Given the description of an element on the screen output the (x, y) to click on. 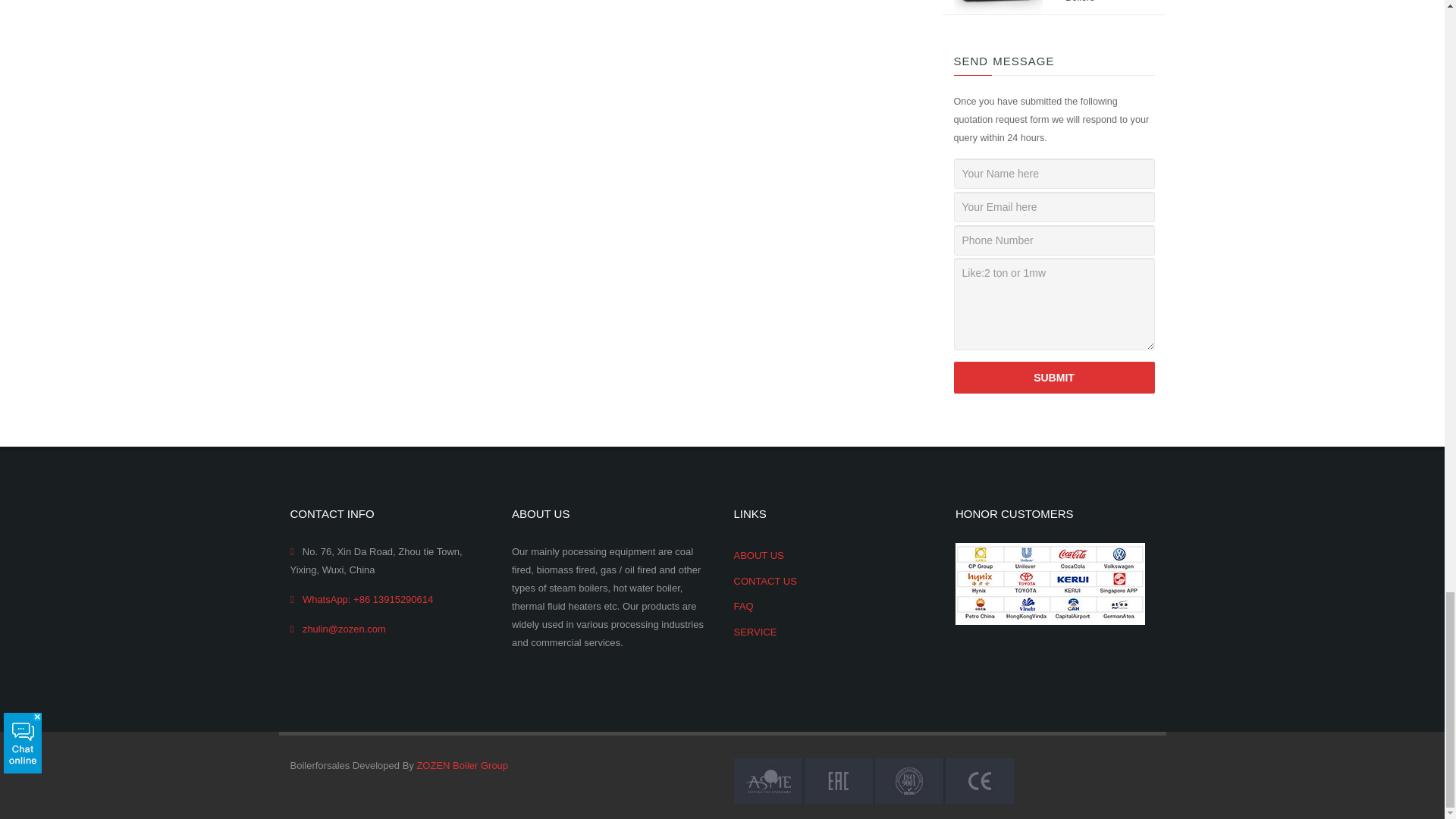
Please enter your phone number (1053, 240)
Please enter your full name (1053, 173)
Please enter your email address (1053, 206)
